Given the description of an element on the screen output the (x, y) to click on. 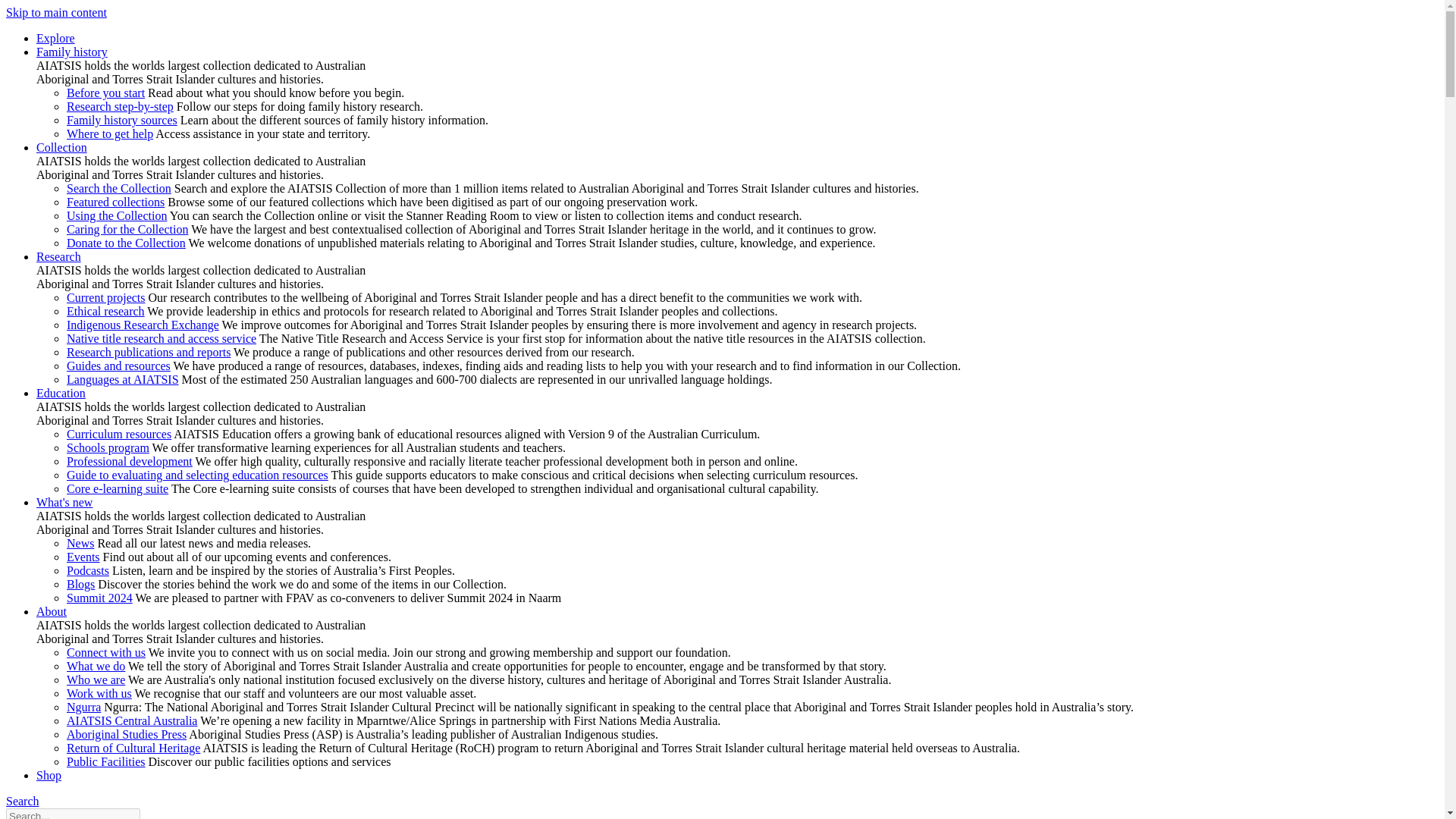
Core e-learning suite (117, 488)
Languages at AIATSIS (122, 379)
Schools program (107, 447)
Access assistance in your state and territory. (109, 133)
Summit 2024 (99, 597)
Where to get help (109, 133)
Research (58, 256)
